Given the description of an element on the screen output the (x, y) to click on. 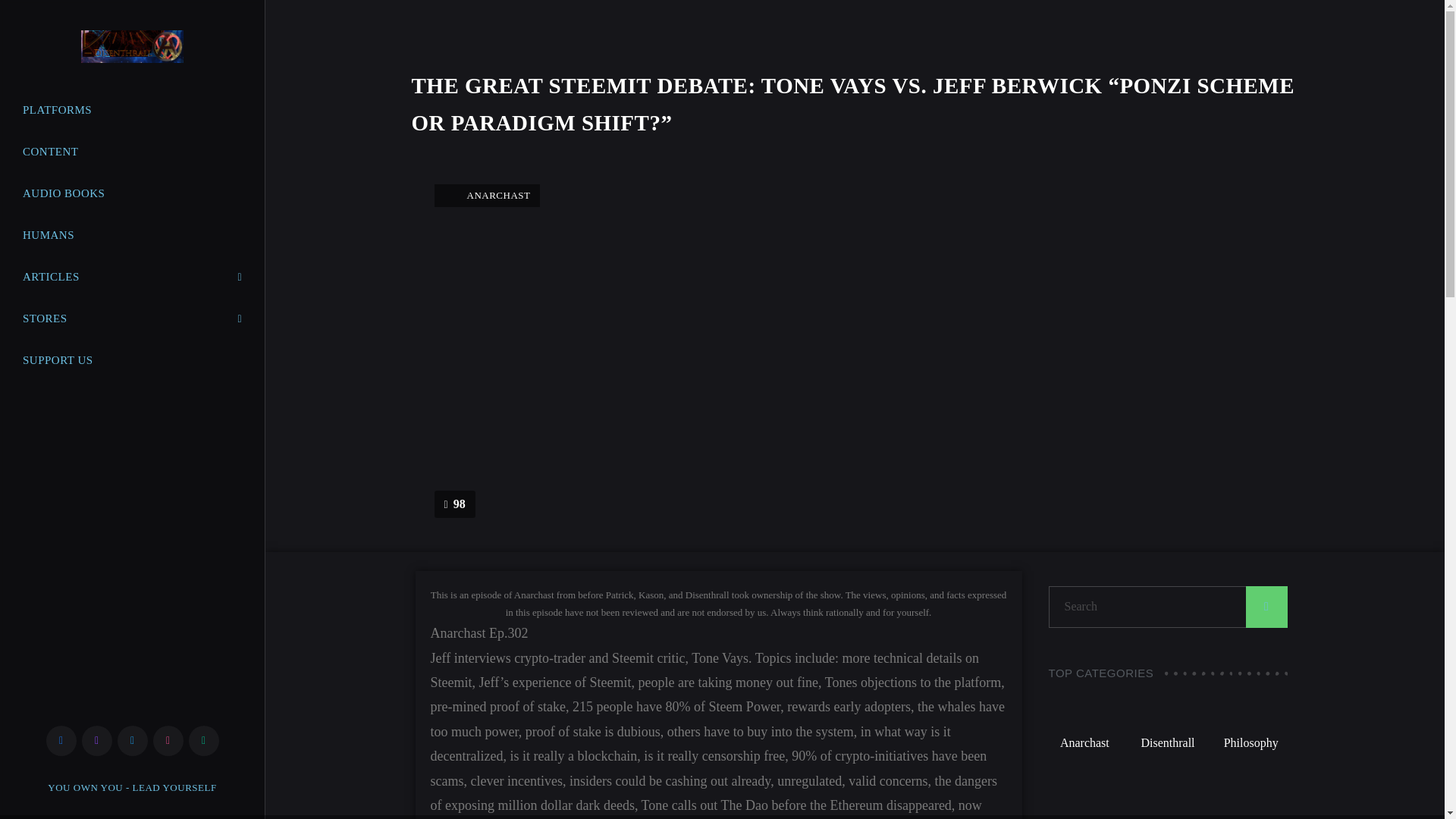
CONTENT (132, 151)
PLATFORMS (132, 110)
ARTICLES (132, 277)
AUDIO BOOKS (132, 193)
Search (1167, 607)
HUMANS (132, 235)
